Given the description of an element on the screen output the (x, y) to click on. 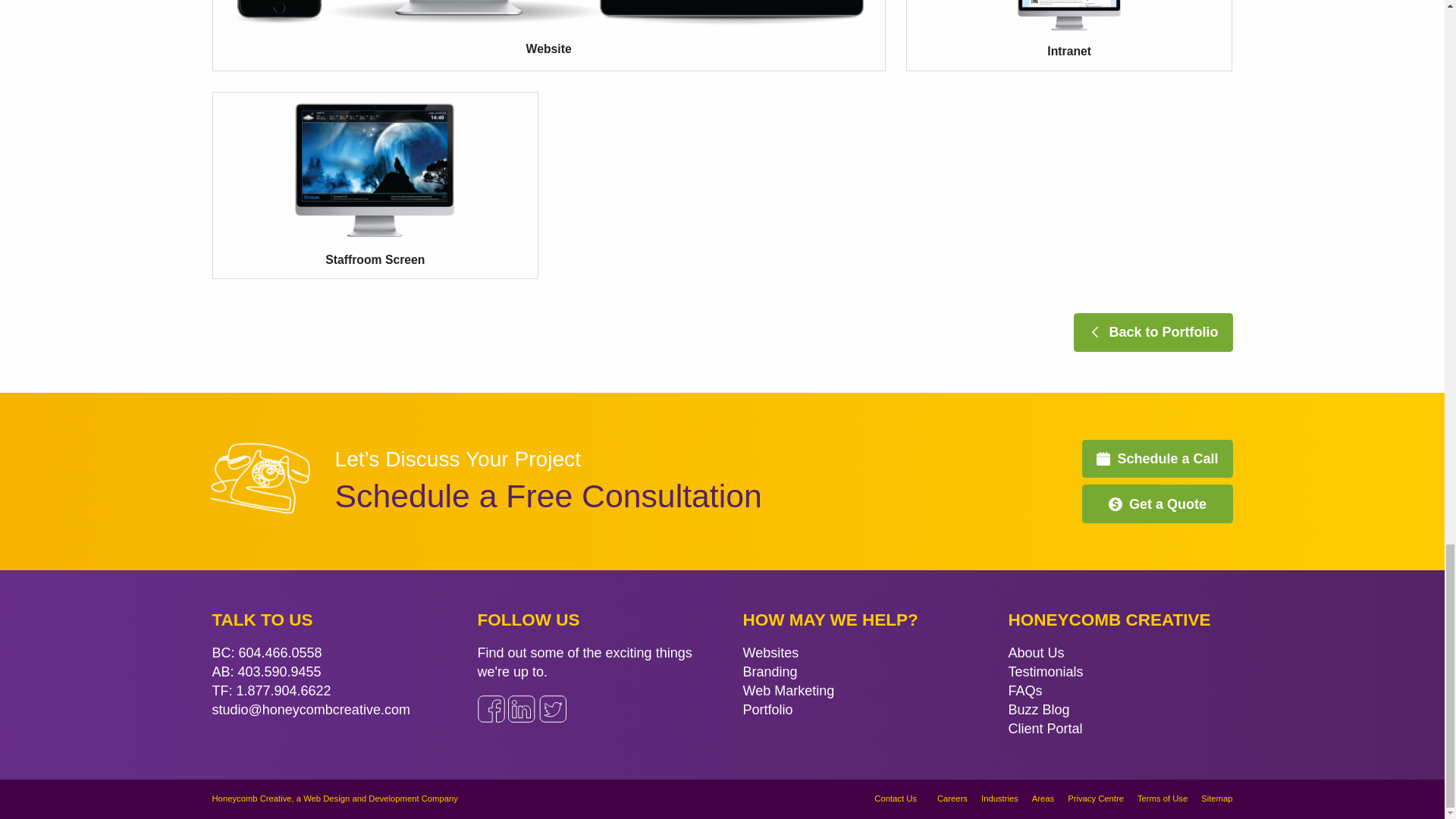
Get a Quote (1156, 503)
Back to Portfolio (1152, 332)
Follow us on Facebook (491, 708)
Schedule a Call (1156, 458)
Follow us on LinkedIn (521, 708)
Follow us on Twitter (552, 708)
